Given the description of an element on the screen output the (x, y) to click on. 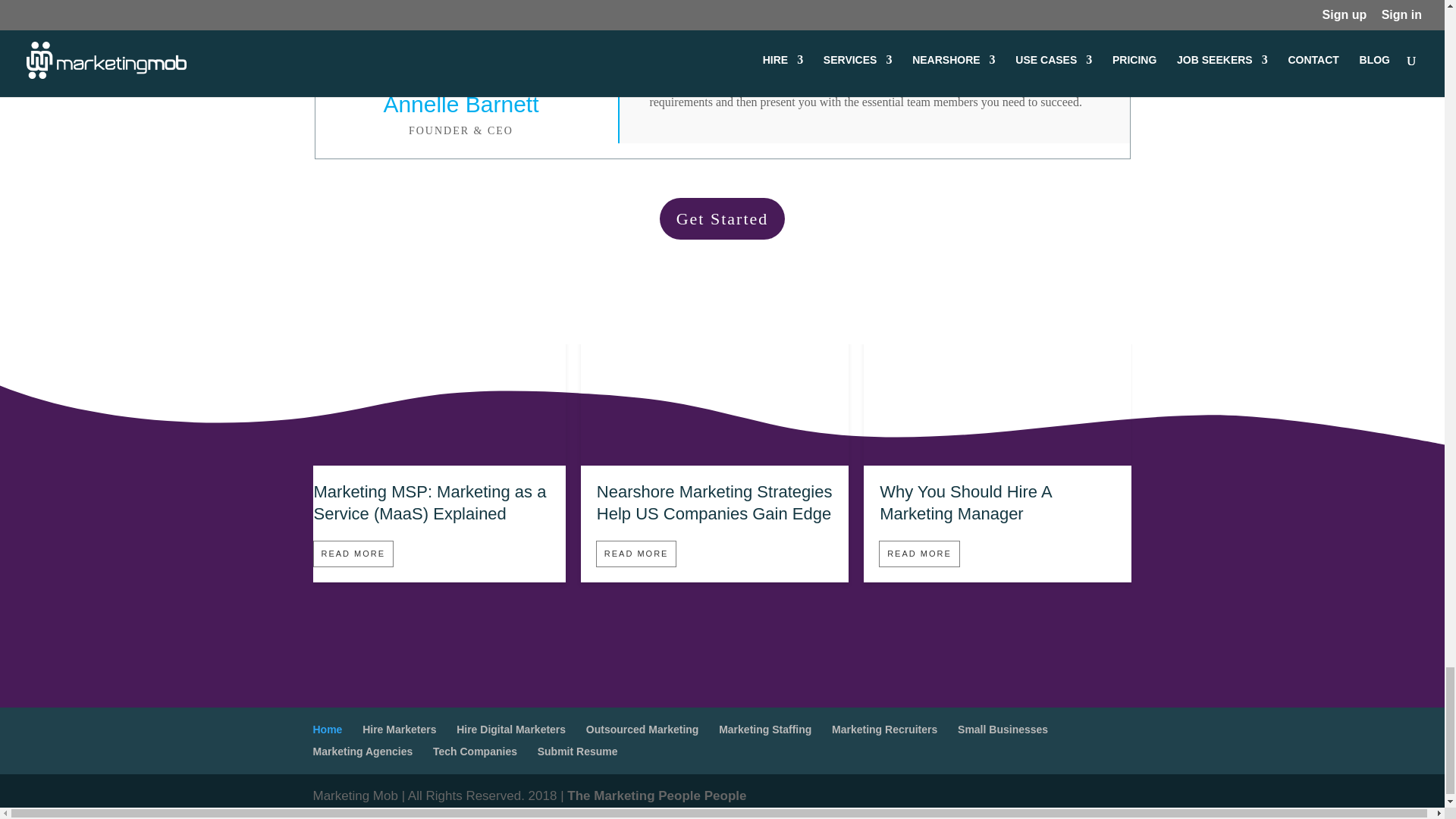
Why You Should Hire A Marketing Manager (965, 502)
Nearshore Marketing Strategies Help US Companies Gain Edge (714, 459)
Why You Should Hire A Marketing Manager (997, 459)
READ MORE (636, 553)
READ MORE (919, 553)
READ MORE (353, 553)
Get Started (722, 218)
Nearshore Marketing Strategies Help US Companies Gain Edge (714, 502)
